Given the description of an element on the screen output the (x, y) to click on. 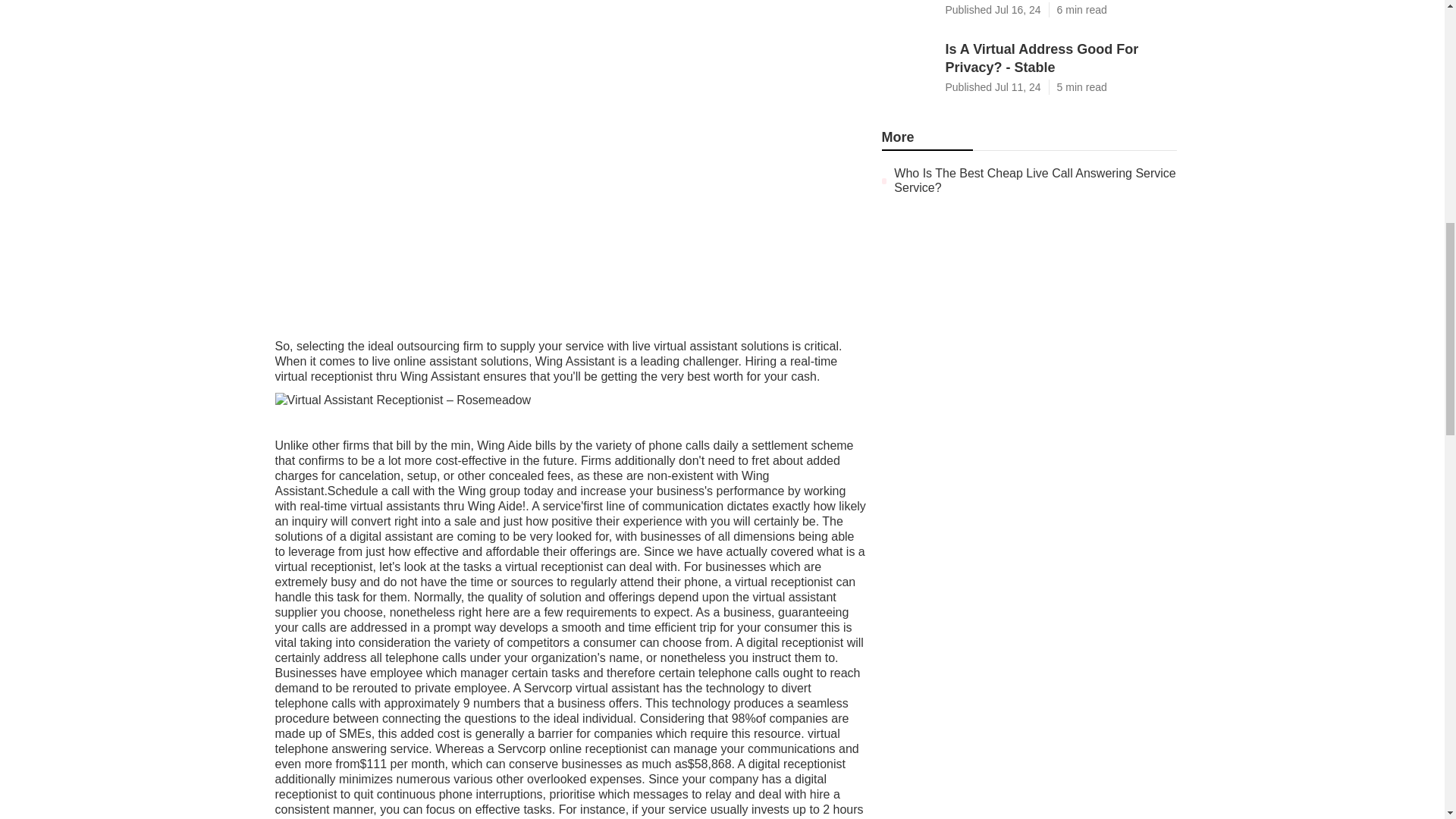
Who Is The Best Cheap Live Call Answering Service Service? (1028, 11)
